Given the description of an element on the screen output the (x, y) to click on. 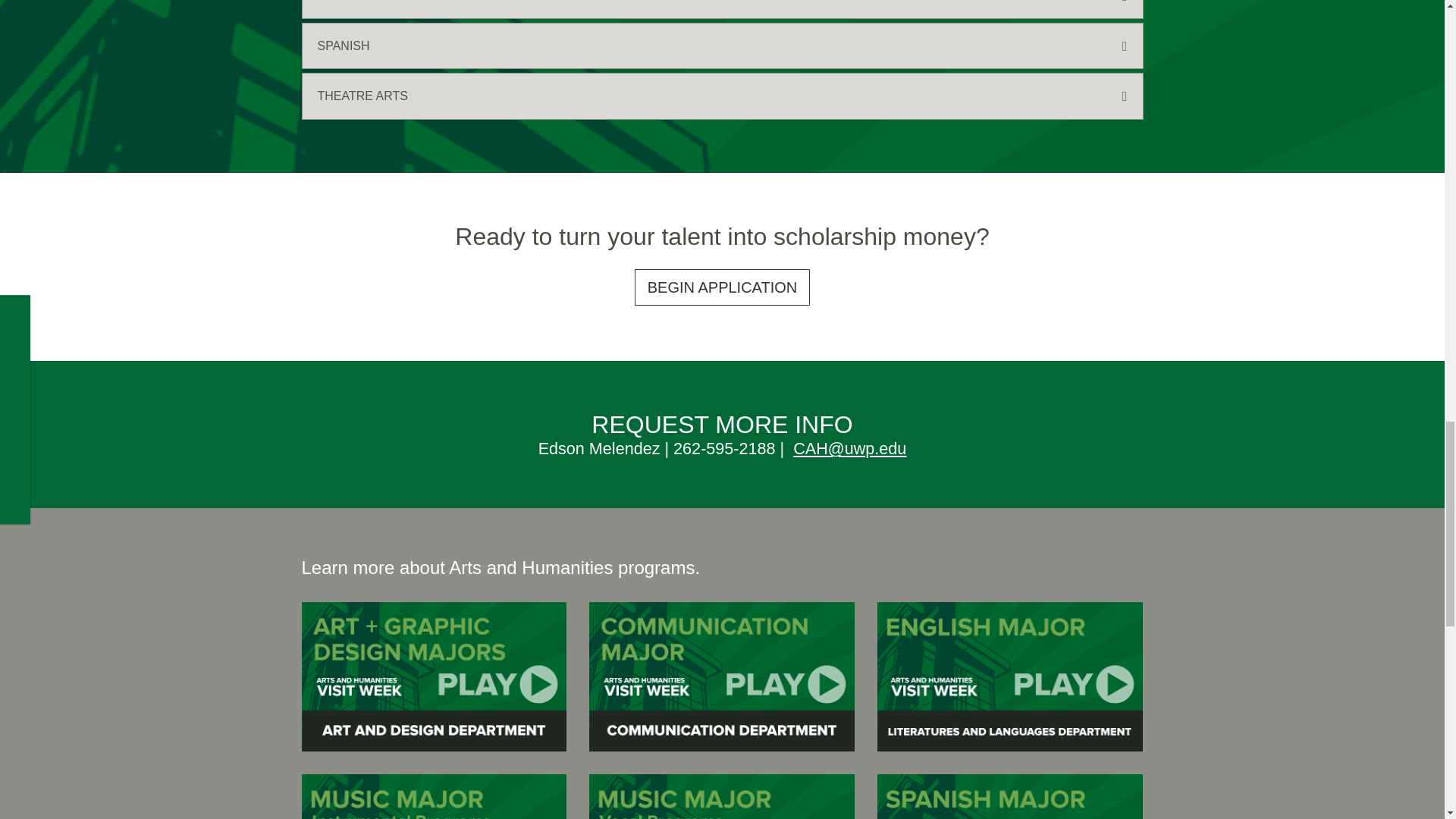
Arts and Humanities Visit Week: Communication Major (721, 676)
Arts and Humanities Visit Week: English Major (1009, 676)
Arts and Humanities Visit Week: Spanish Major (1009, 796)
